Given the description of an element on the screen output the (x, y) to click on. 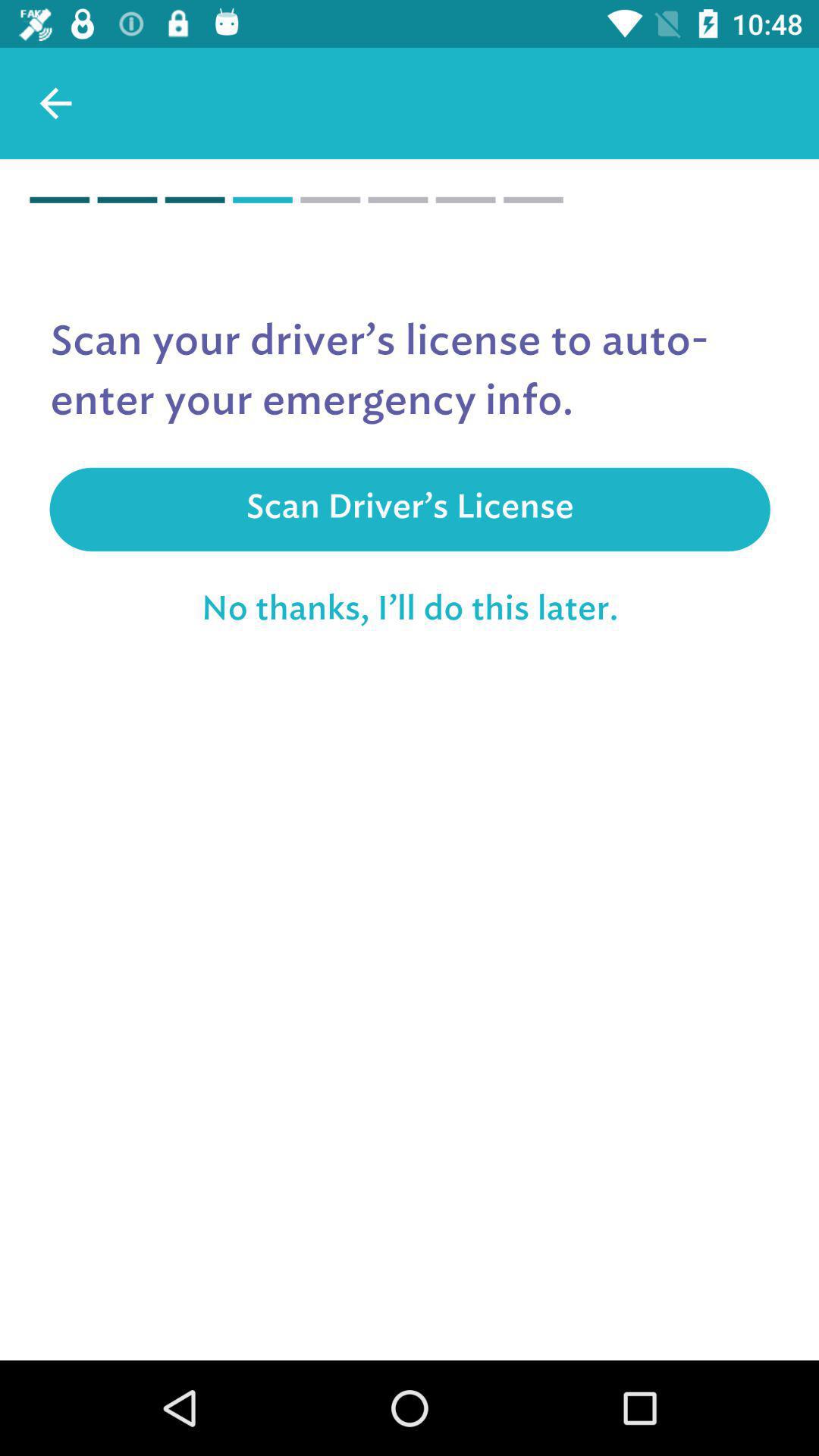
back face (55, 103)
